Given the description of an element on the screen output the (x, y) to click on. 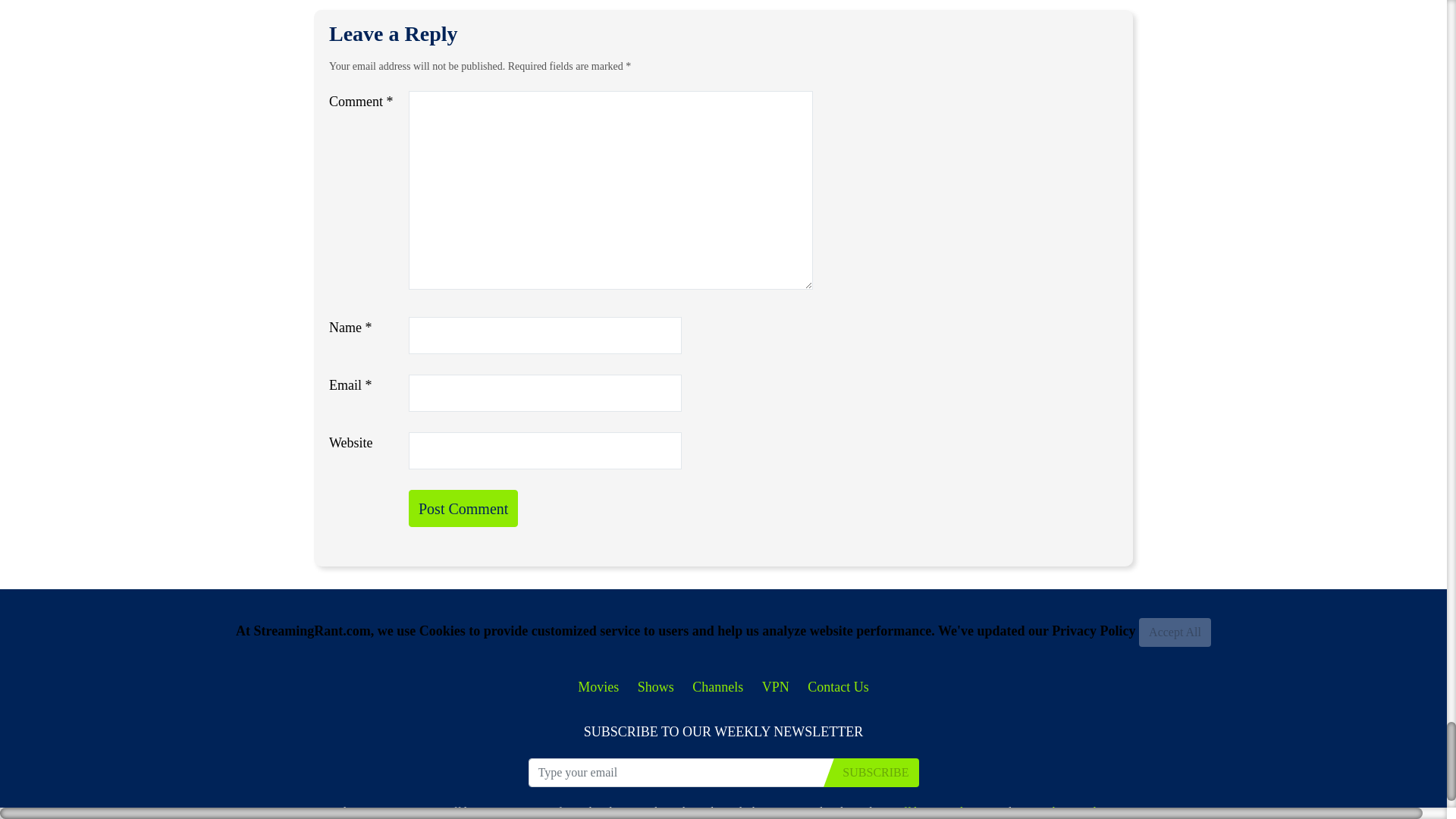
Post Comment (463, 508)
